Given the description of an element on the screen output the (x, y) to click on. 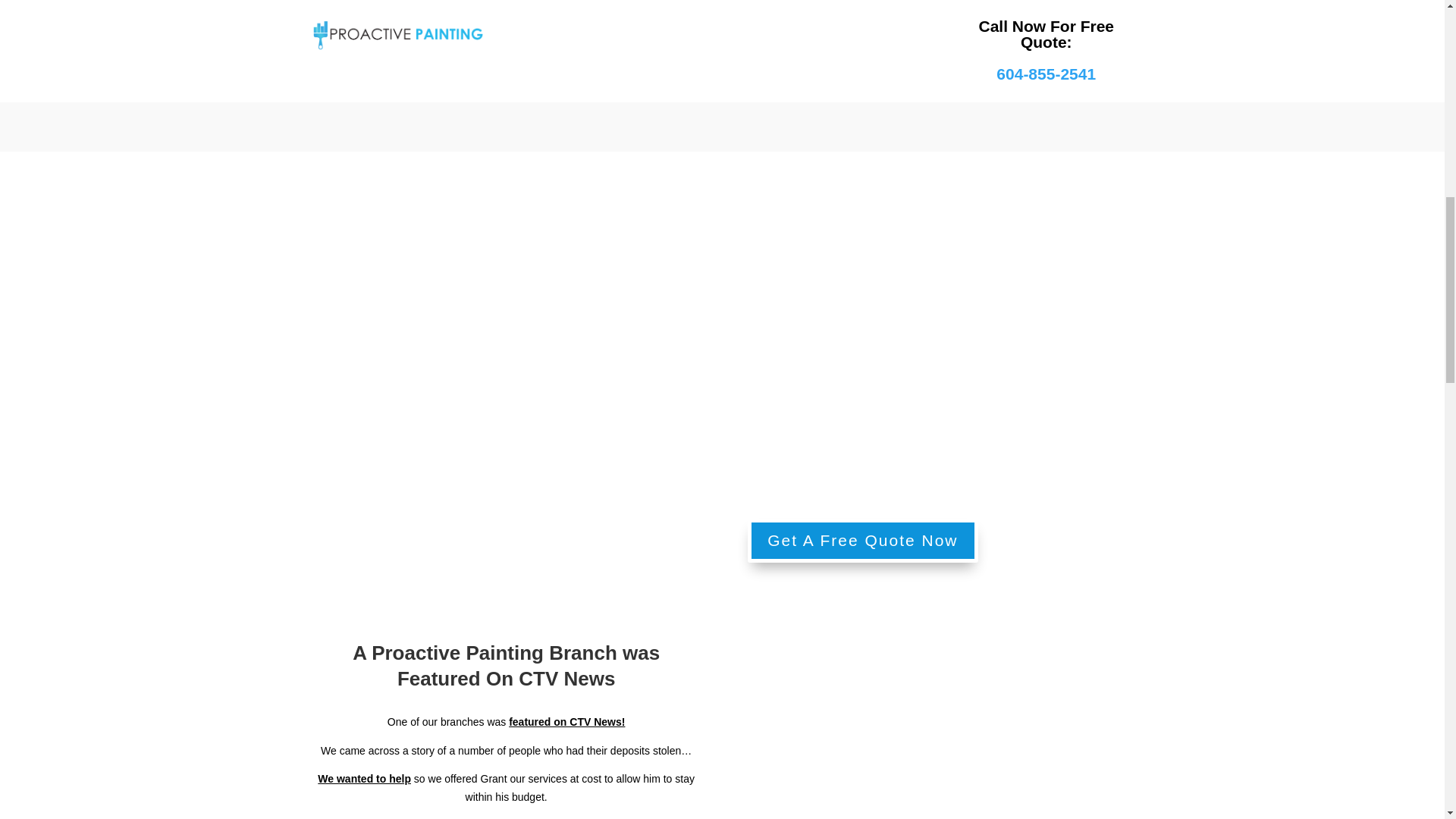
Duluxpaints (1270, 26)
Yelp Logo (722, 31)
Get A Free Quote Now (862, 540)
Google Revie Logo (534, 53)
Proactive Painting Featured on CTV News Winnipeg (937, 742)
